Given the description of an element on the screen output the (x, y) to click on. 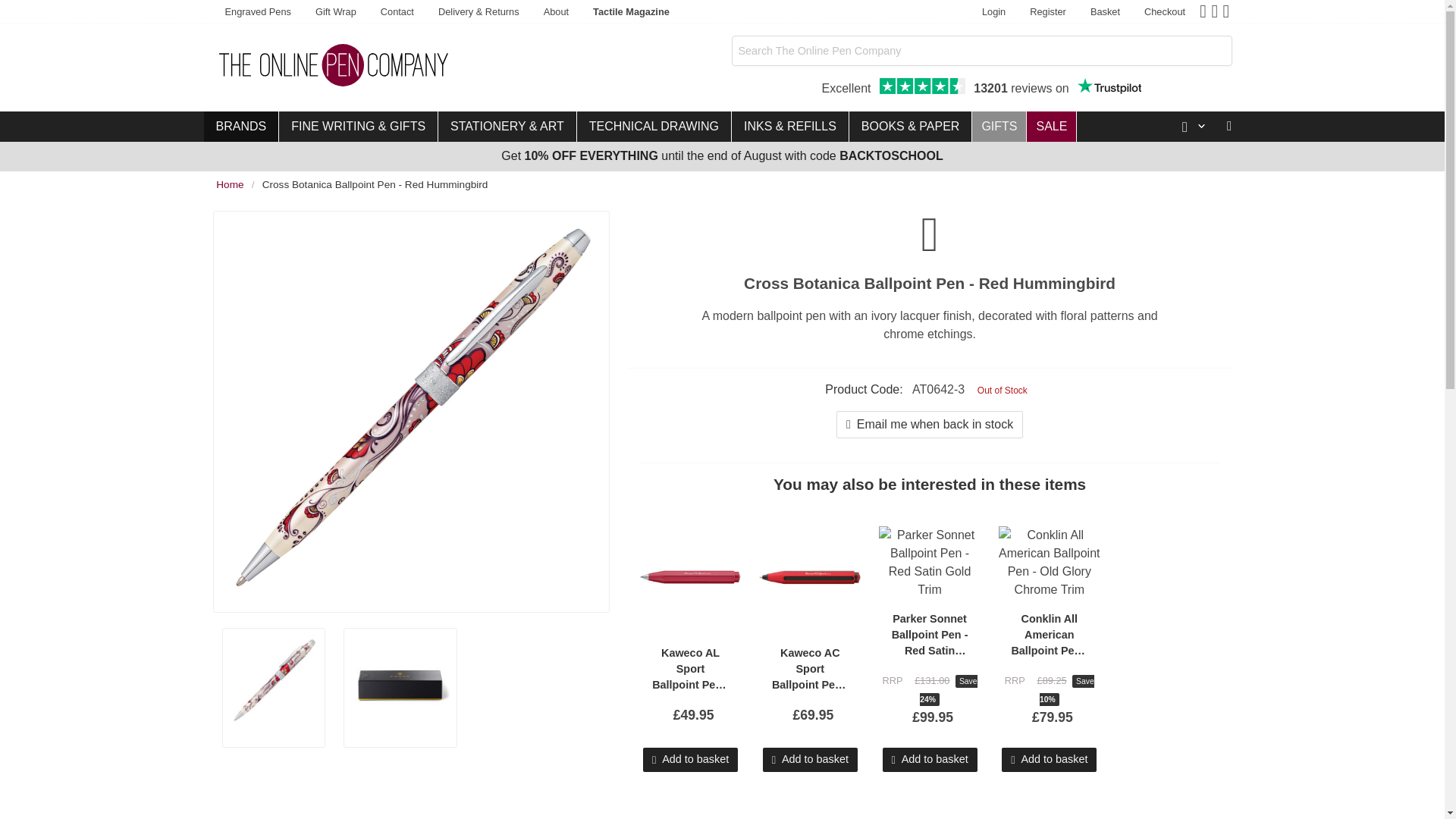
About (555, 11)
BRANDS (240, 126)
Register (1047, 11)
Trustpilot (1109, 85)
Basket (1105, 11)
Gift Wrap (335, 11)
Login (993, 11)
Checkout (1164, 11)
Contact (397, 11)
